Given the description of an element on the screen output the (x, y) to click on. 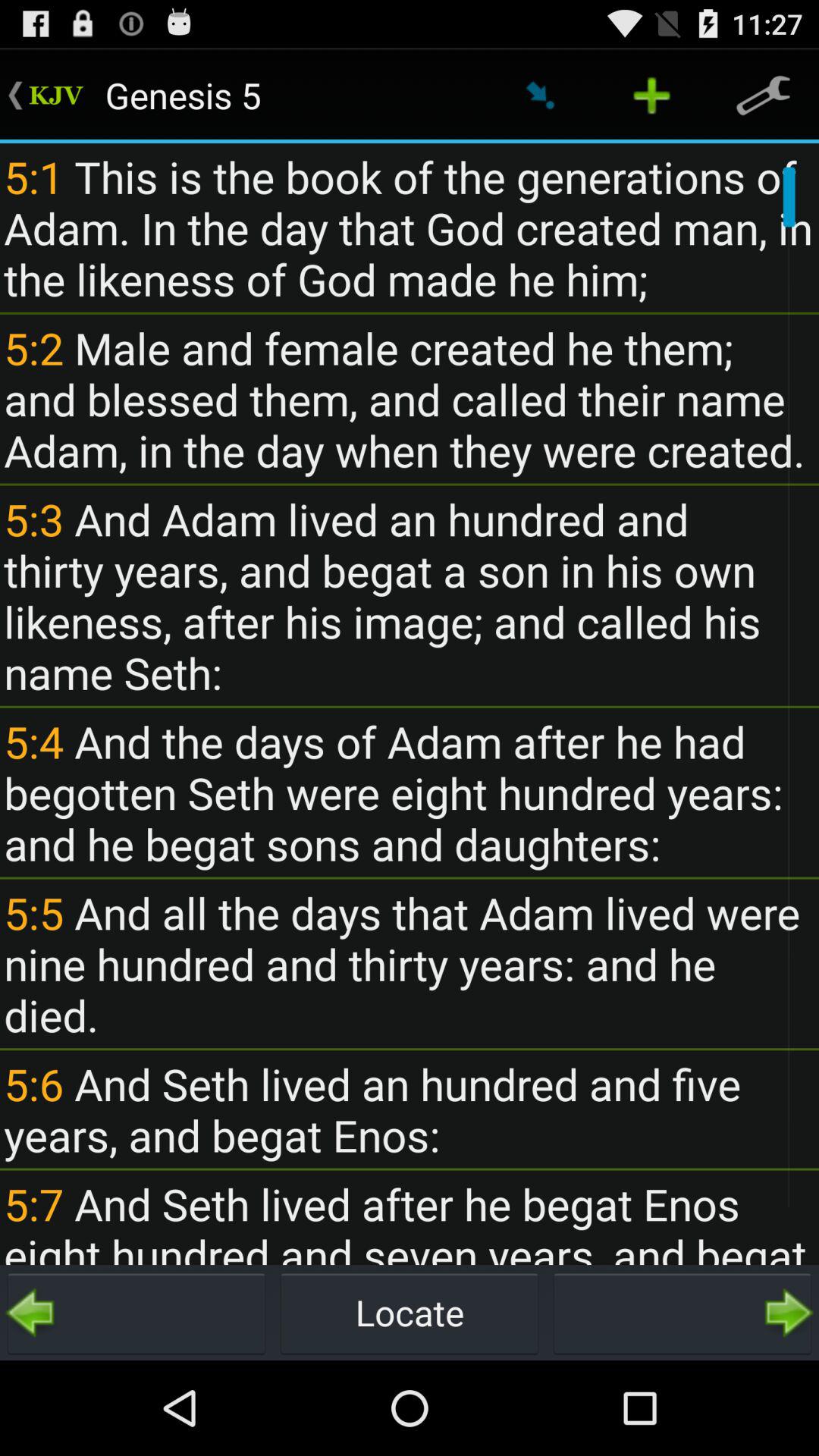
select the icon above 5 1 this item (763, 95)
